Given the description of an element on the screen output the (x, y) to click on. 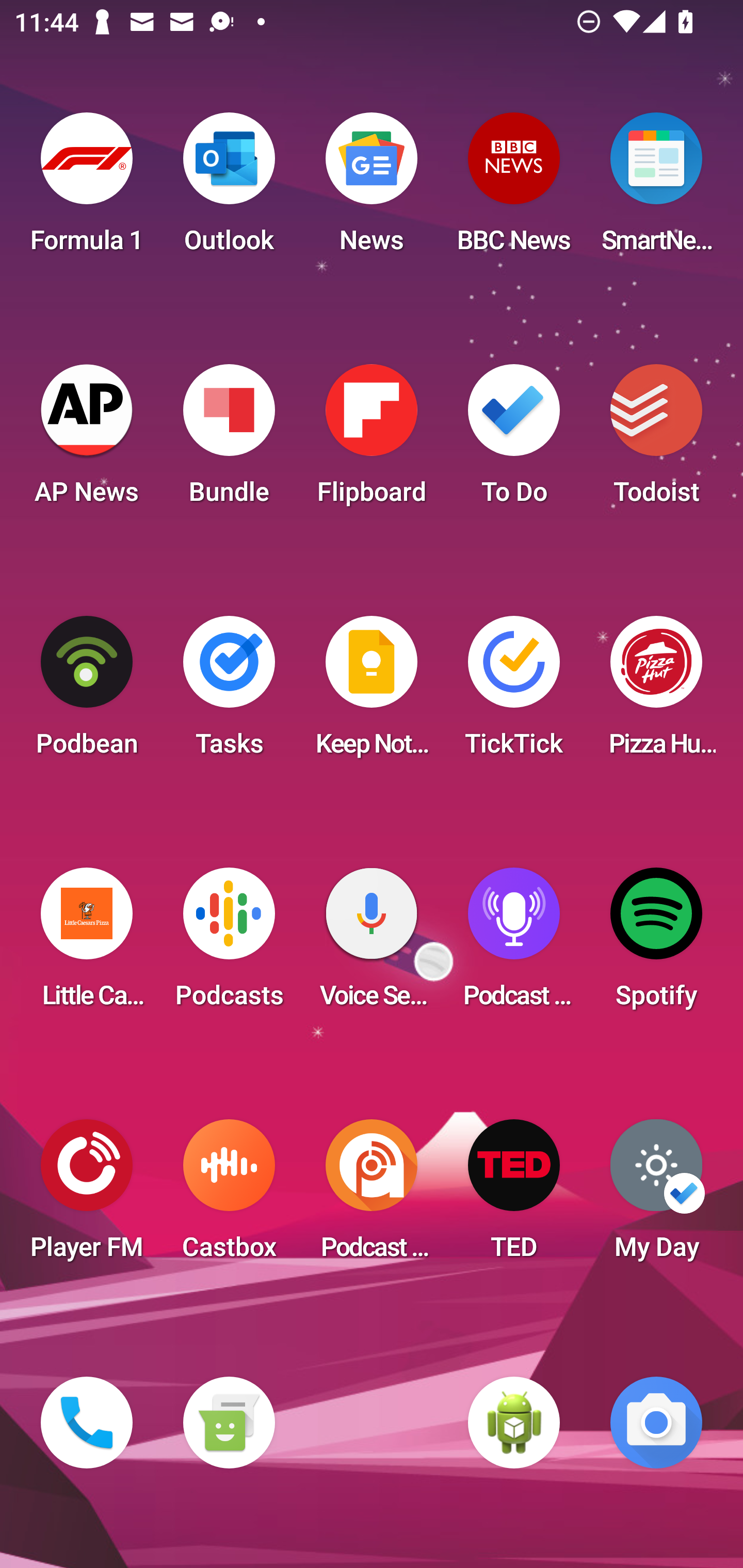
Formula 1 (86, 188)
Outlook (228, 188)
News (371, 188)
BBC News (513, 188)
SmartNews (656, 188)
AP News (86, 440)
Bundle (228, 440)
Flipboard (371, 440)
To Do (513, 440)
Todoist (656, 440)
Podbean (86, 692)
Tasks (228, 692)
Keep Notes (371, 692)
TickTick (513, 692)
Pizza Hut HK & Macau (656, 692)
Little Caesars Pizza (86, 943)
Podcasts (228, 943)
Voice Search (371, 943)
Podcast Player (513, 943)
Spotify (656, 943)
Player FM (86, 1195)
Castbox (228, 1195)
Podcast Addict (371, 1195)
TED (513, 1195)
My Day (656, 1195)
Phone (86, 1422)
Messaging (228, 1422)
WebView Browser Tester (513, 1422)
Camera (656, 1422)
